Given the description of an element on the screen output the (x, y) to click on. 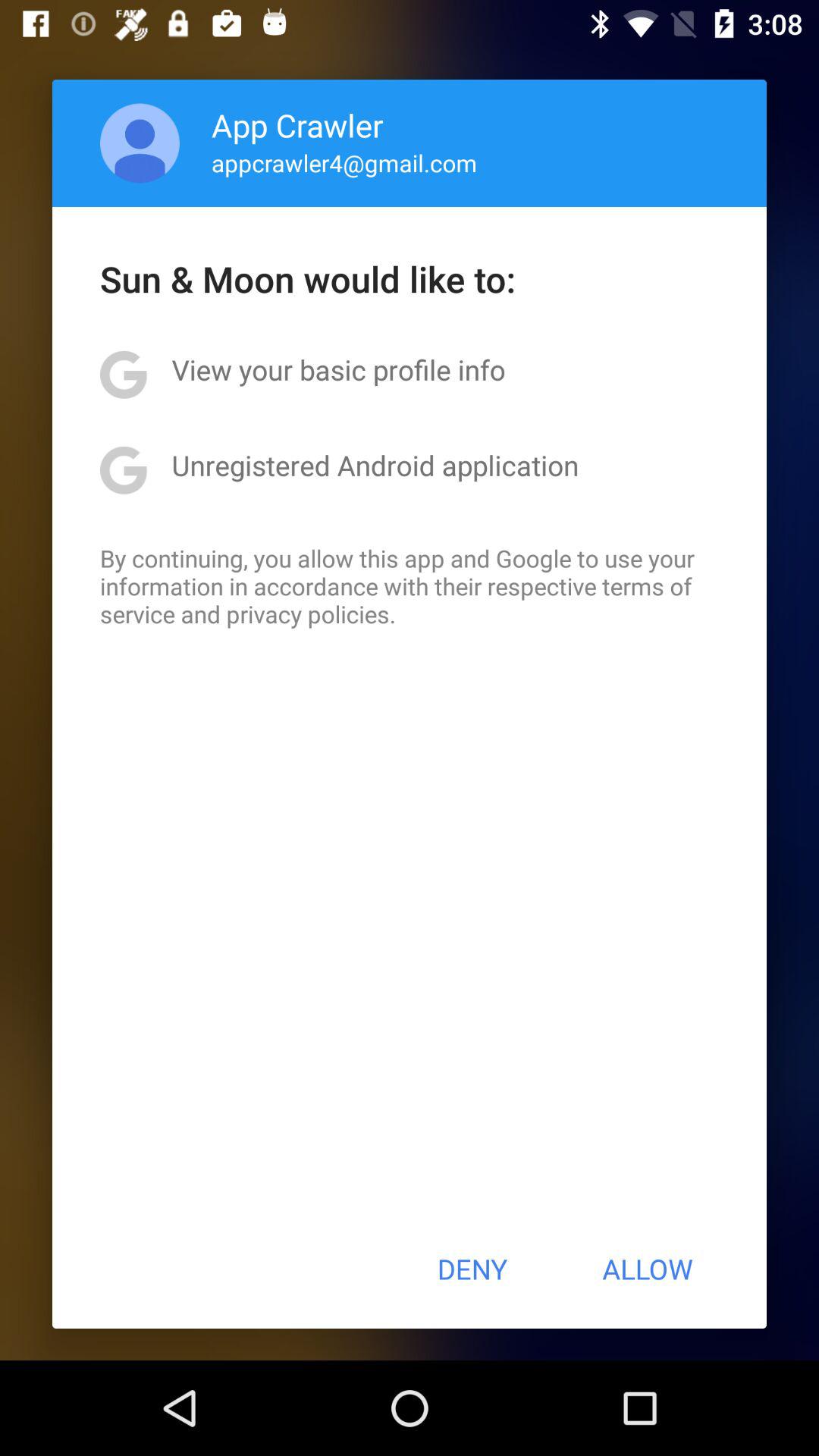
turn off the item above the by continuing you item (374, 465)
